Given the description of an element on the screen output the (x, y) to click on. 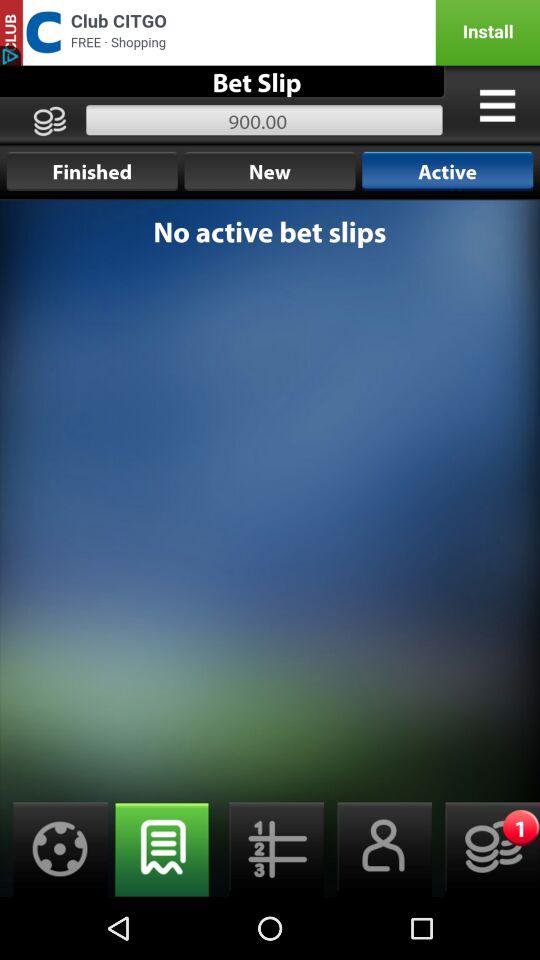
profile (378, 849)
